Given the description of an element on the screen output the (x, y) to click on. 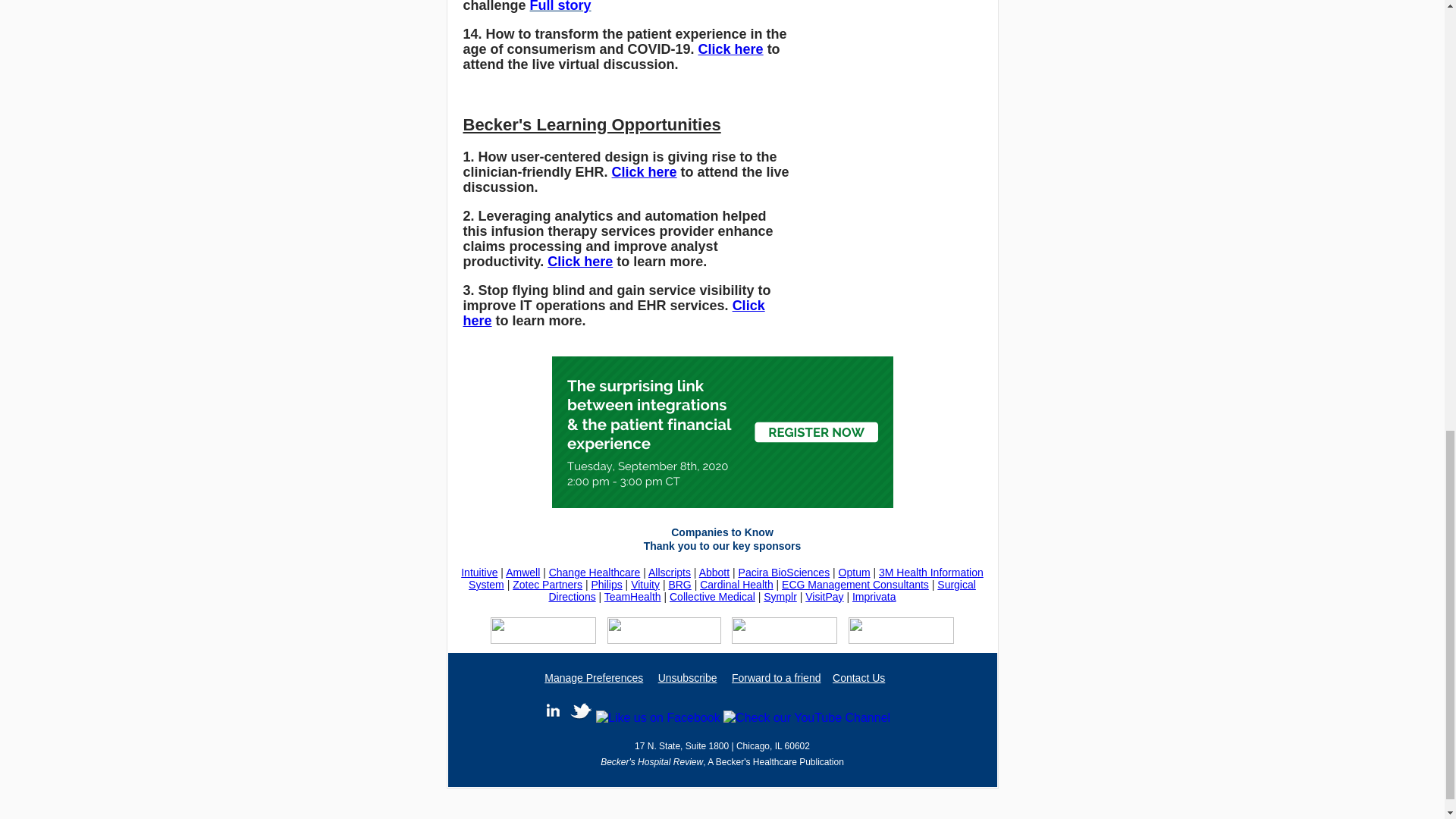
Like us on Facebook (806, 717)
Follow us on Twitter (580, 709)
Optum (854, 572)
Abbott (713, 572)
Click here (579, 261)
Like us on Facebook (657, 717)
Amwell (522, 572)
Full story (560, 6)
View our profile on LinkedIn (552, 709)
Click here (613, 313)
Click here (644, 171)
Intuitive (479, 572)
Click here (730, 48)
Pacira BioSciences (783, 572)
Change Healthcare (594, 572)
